Given the description of an element on the screen output the (x, y) to click on. 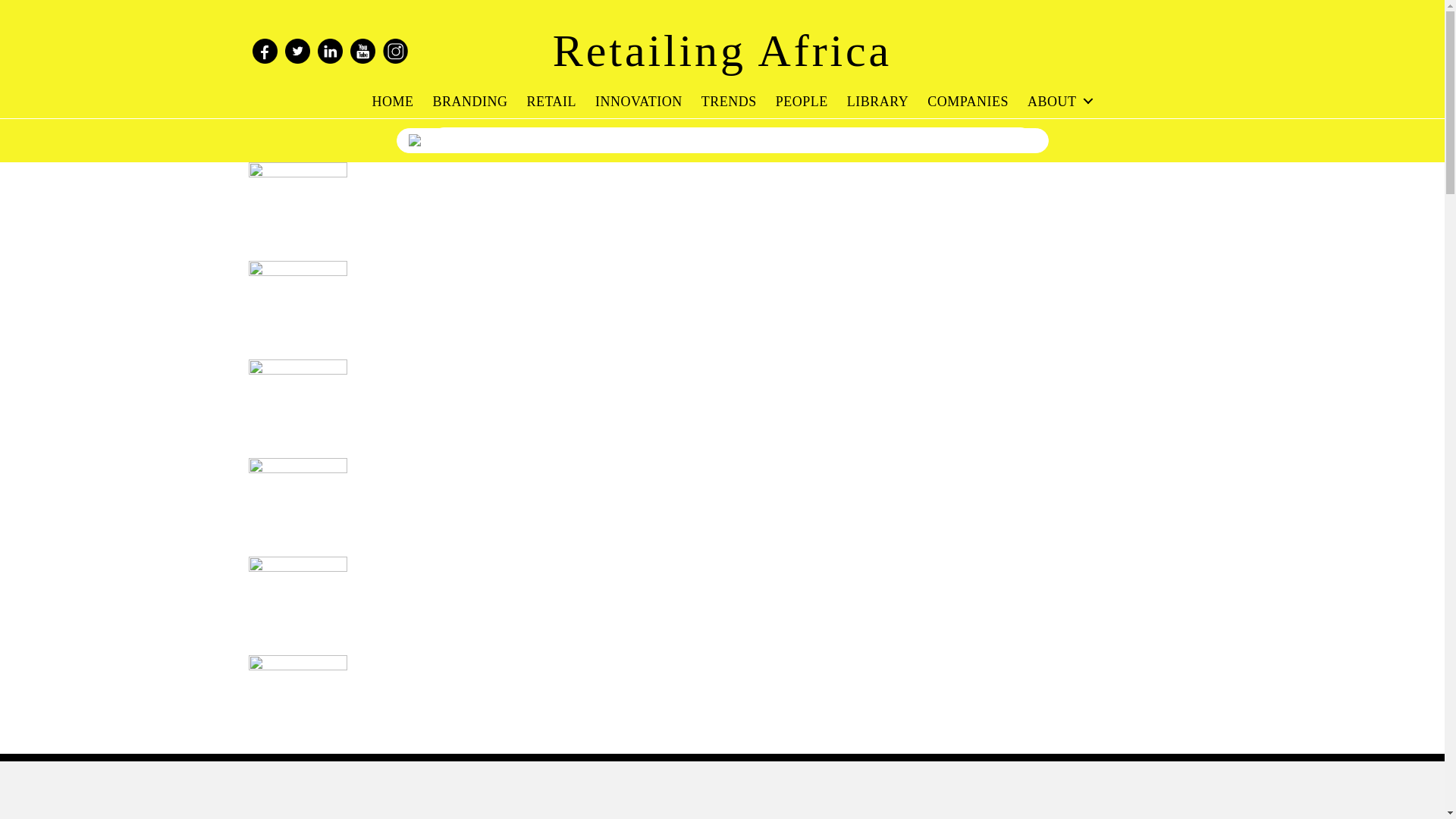
RETAIL (550, 101)
HOME (392, 101)
PEOPLE (802, 101)
TRENDS (729, 101)
Retailing Africa (722, 50)
BRANDING (469, 101)
LIBRARY (877, 101)
INNOVATION (638, 101)
ABOUT (1059, 101)
COMPANIES (968, 101)
